Given the description of an element on the screen output the (x, y) to click on. 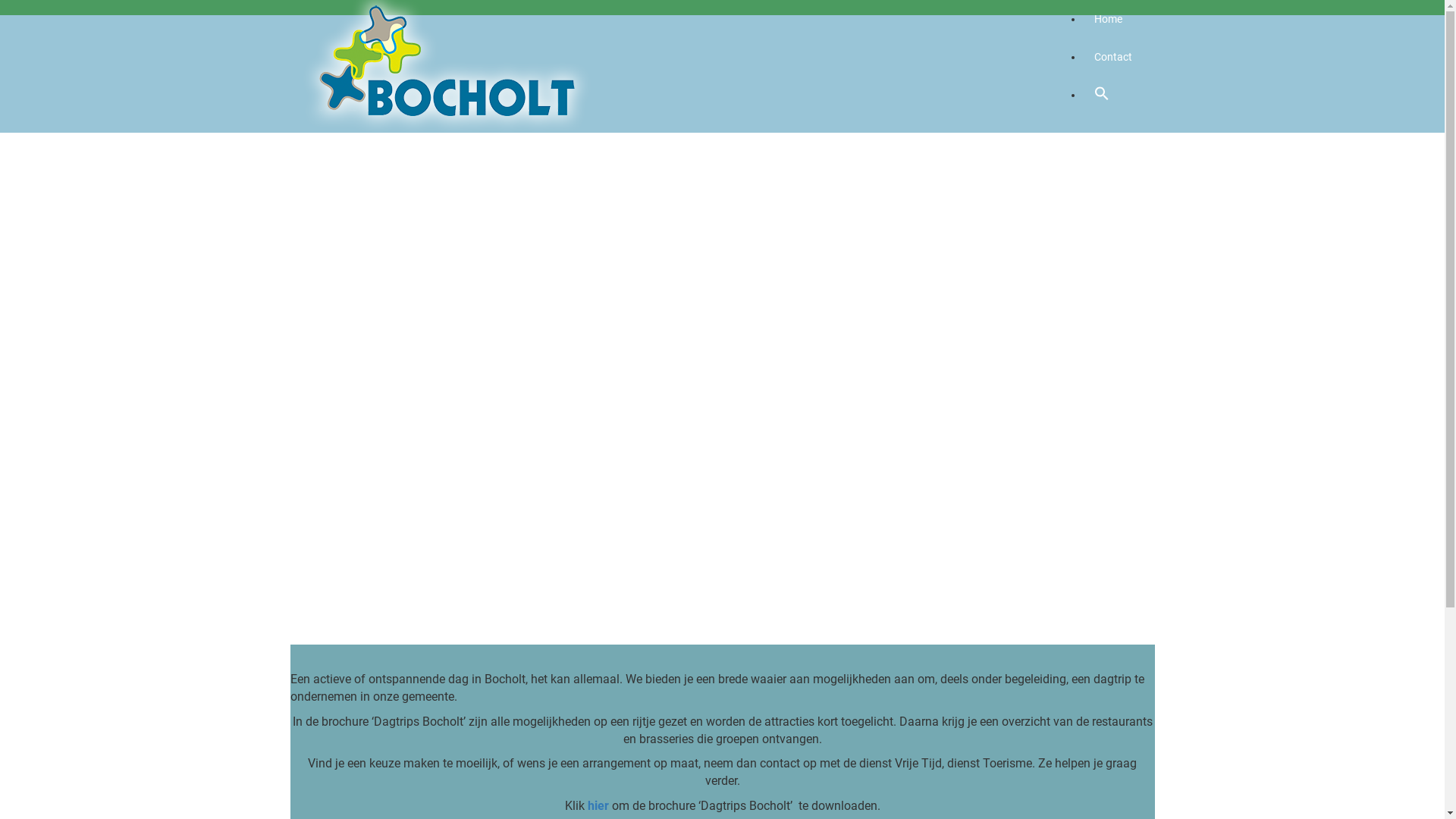
Contact Element type: text (1112, 56)
Home Element type: text (1107, 18)
Home Element type: text (737, 22)
hier Element type: text (597, 805)
